Given the description of an element on the screen output the (x, y) to click on. 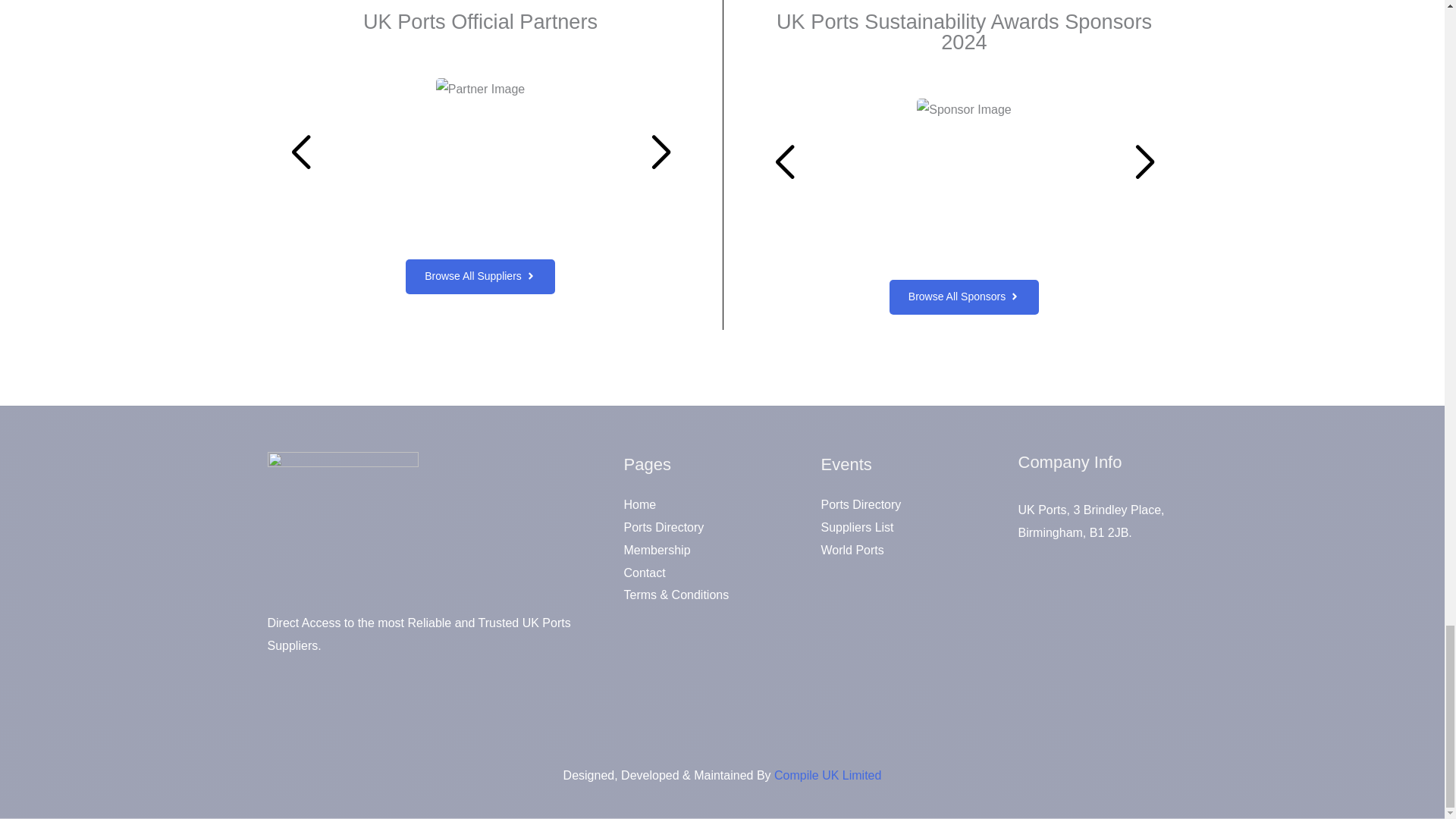
Ports Directory (861, 504)
Browse All Suppliers (480, 276)
Browse All Sponsors (964, 297)
Contact (644, 572)
Home (639, 504)
Ports Directory (663, 526)
Membership (656, 549)
